Given the description of an element on the screen output the (x, y) to click on. 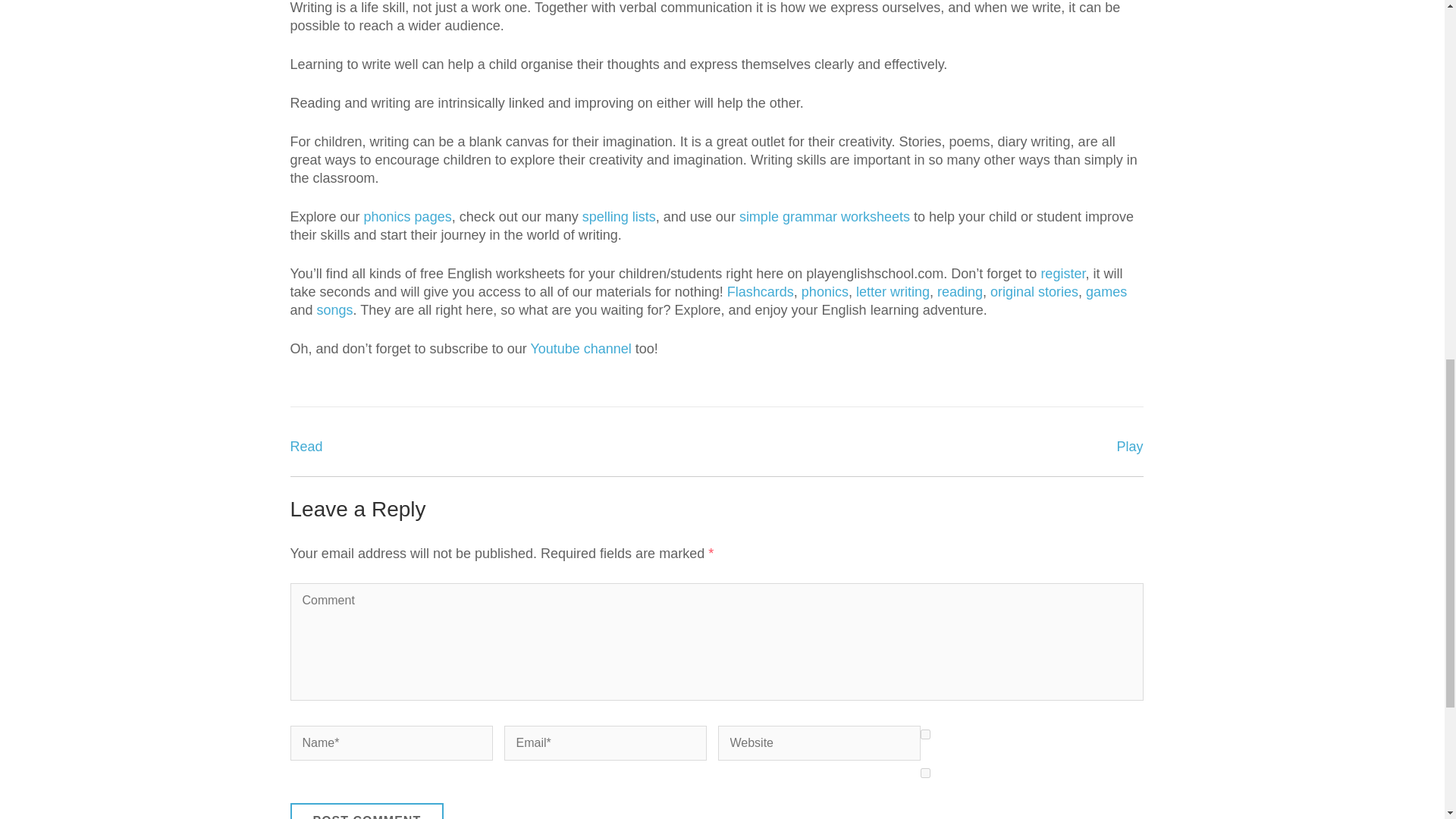
Post Comment (366, 811)
subscribe (925, 734)
subscribe (925, 773)
